Given the description of an element on the screen output the (x, y) to click on. 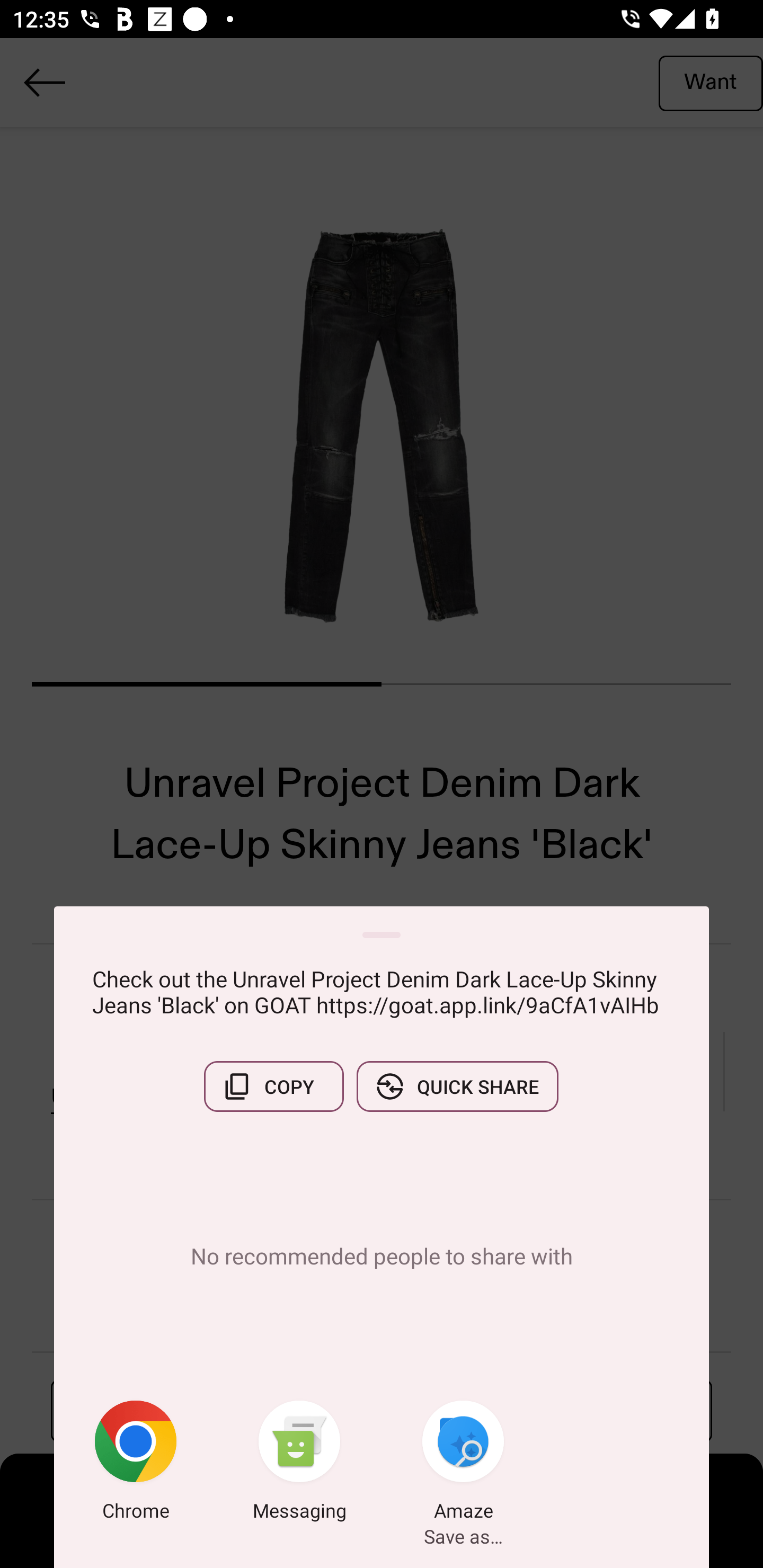
COPY (273, 1086)
QUICK SHARE (457, 1086)
Chrome (135, 1463)
Messaging (299, 1463)
Amaze Save as… (463, 1463)
